Given the description of an element on the screen output the (x, y) to click on. 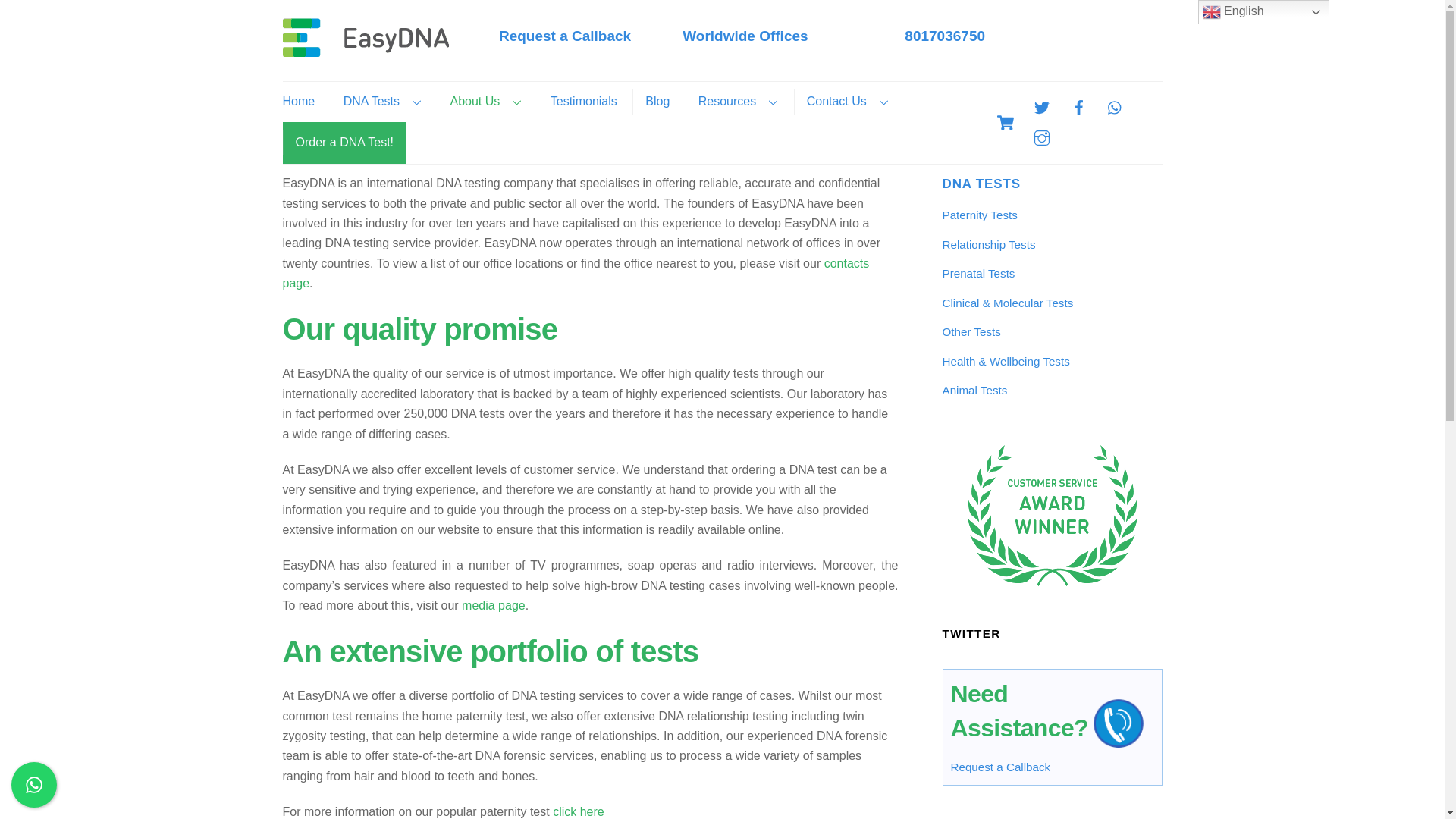
EasyDNA IN (818, 40)
DNA Tests (365, 49)
Cart (381, 102)
logo (1005, 122)
Home (365, 37)
